Given the description of an element on the screen output the (x, y) to click on. 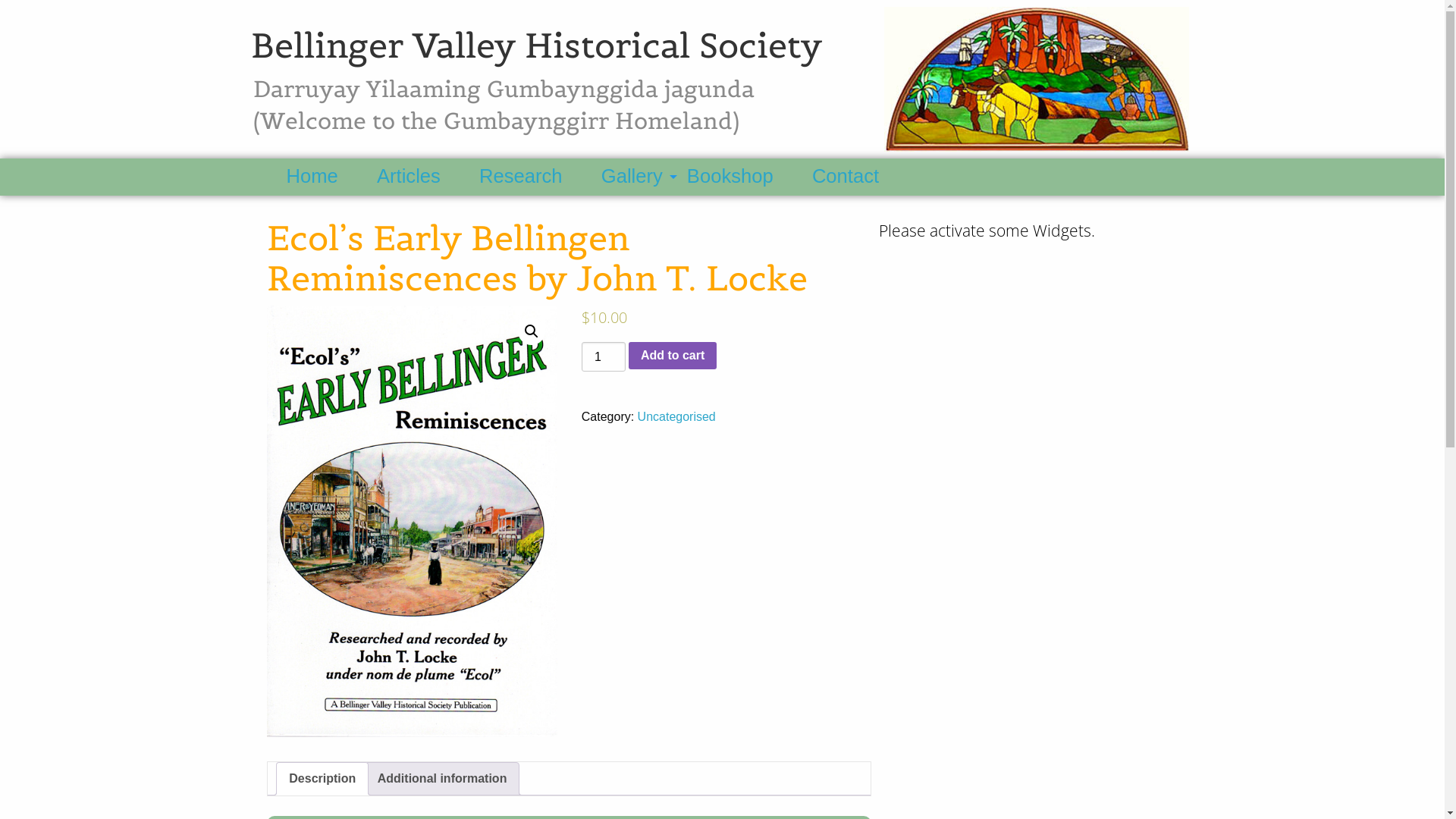
Bookshop Element type: text (743, 177)
Uncategorised Element type: text (676, 416)
Home Element type: text (324, 177)
Articles Element type: text (421, 177)
Description Element type: text (321, 778)
Contact Element type: text (858, 177)
Additional information Element type: text (442, 778)
Research Element type: text (534, 177)
Bellinger Valley Historical Society Element type: text (536, 45)
Add to cart Element type: text (672, 355)
Gallery Element type: text (637, 177)
